Given the description of an element on the screen output the (x, y) to click on. 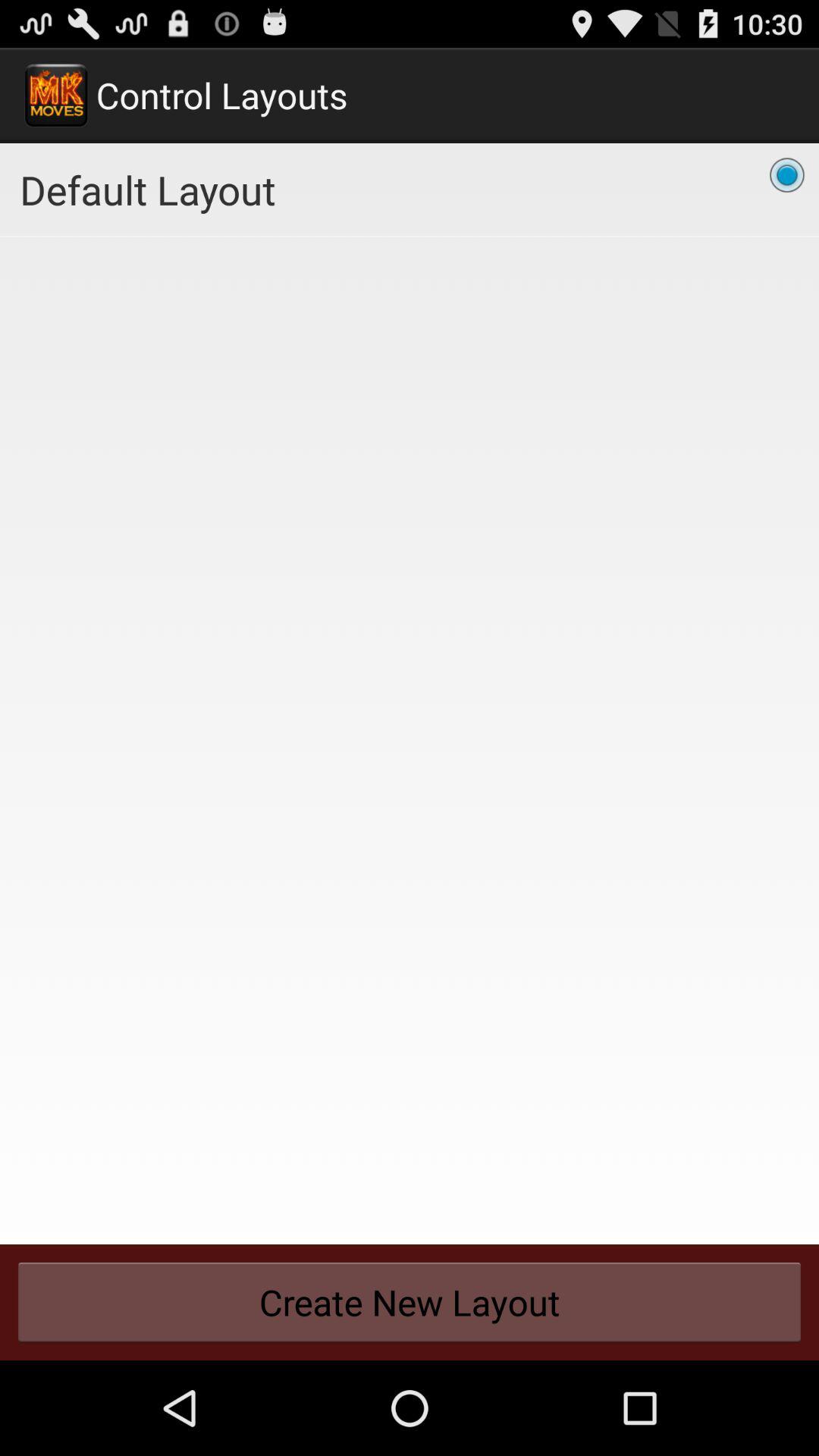
choose item at the top right corner (787, 175)
